Given the description of an element on the screen output the (x, y) to click on. 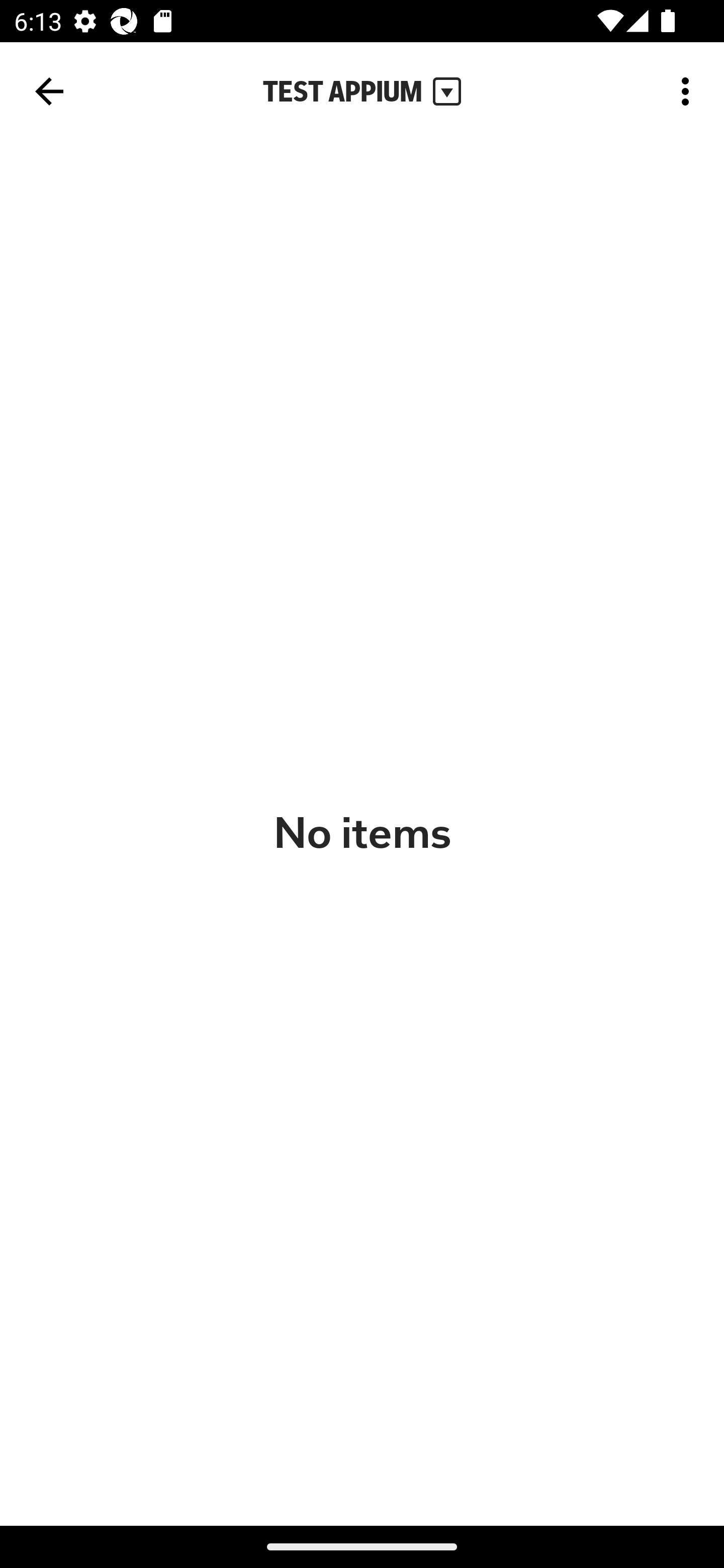
Back (49, 91)
TEST APPIUM (361, 91)
More options (688, 90)
